Given the description of an element on the screen output the (x, y) to click on. 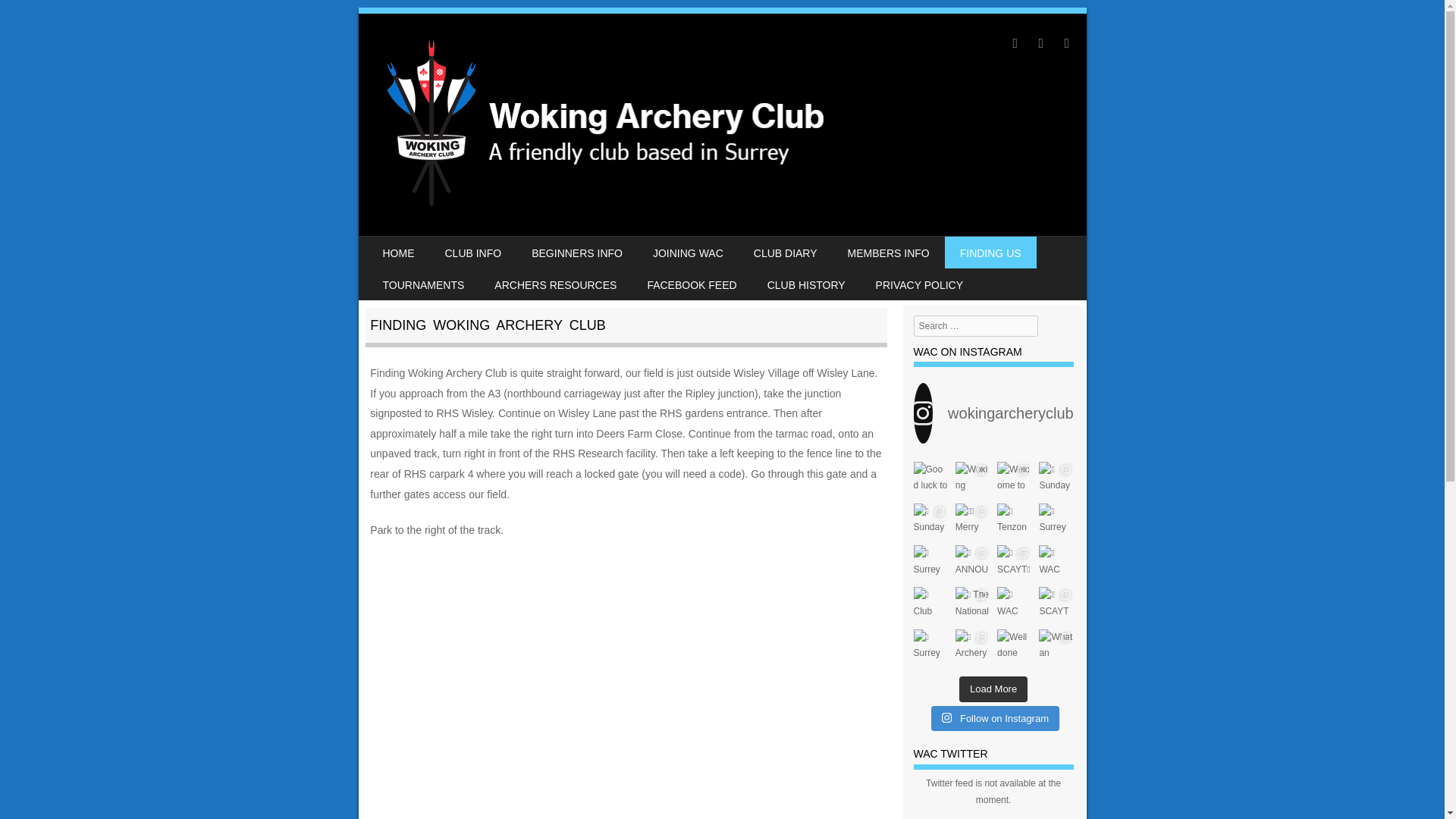
PRIVACY POLICY (919, 284)
MEMBERS INFO (888, 252)
CLUB HISTORY (806, 284)
Skip to content (405, 246)
TOURNAMENTS (422, 284)
CLUB DIARY (785, 252)
SKIP TO CONTENT (405, 246)
FACEBOOK FEED (691, 284)
JOINING WAC (687, 252)
FINDING US (990, 252)
